Given the description of an element on the screen output the (x, y) to click on. 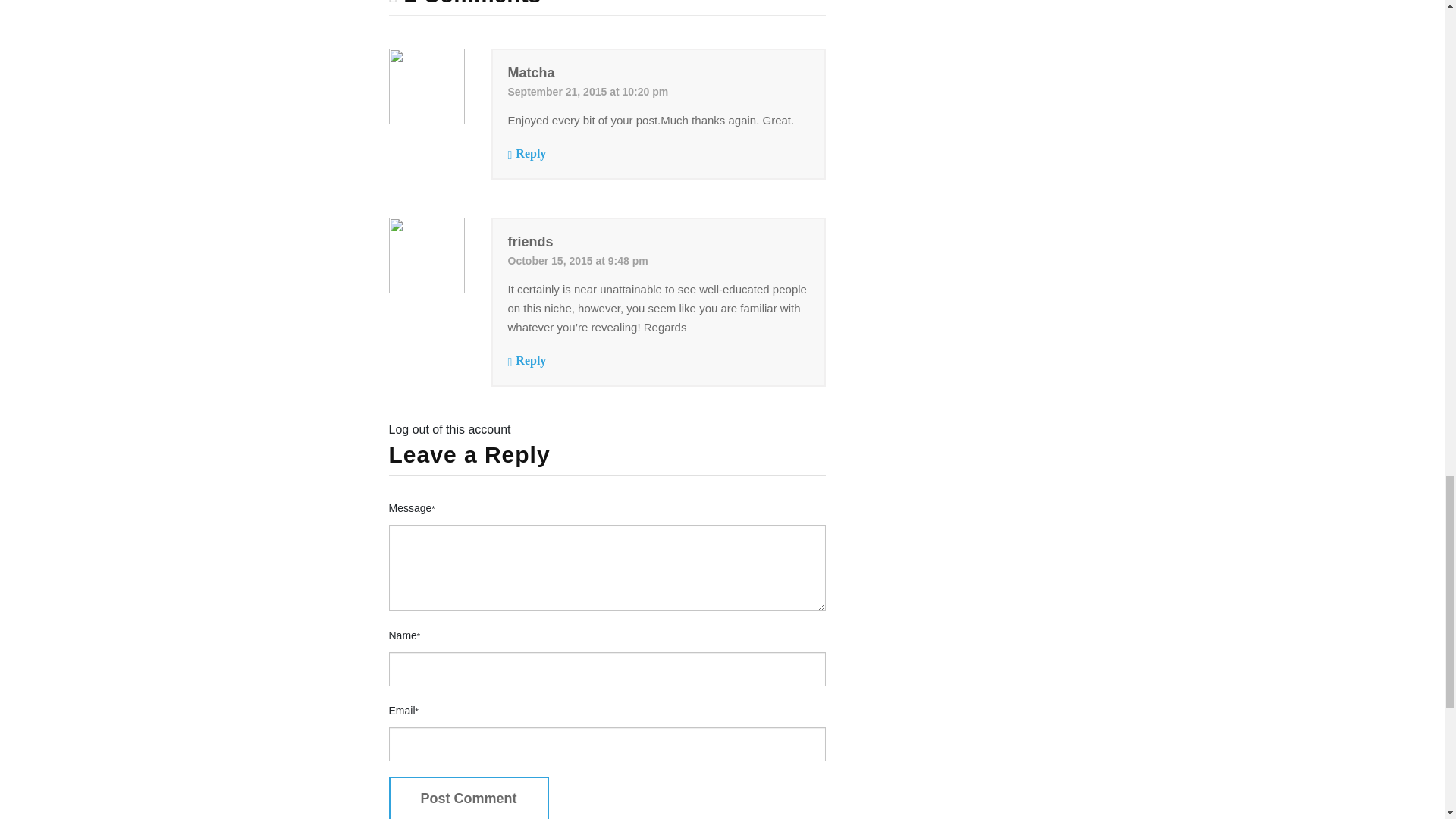
Reply (530, 153)
Reply (530, 359)
Post Comment (468, 797)
